Given the description of an element on the screen output the (x, y) to click on. 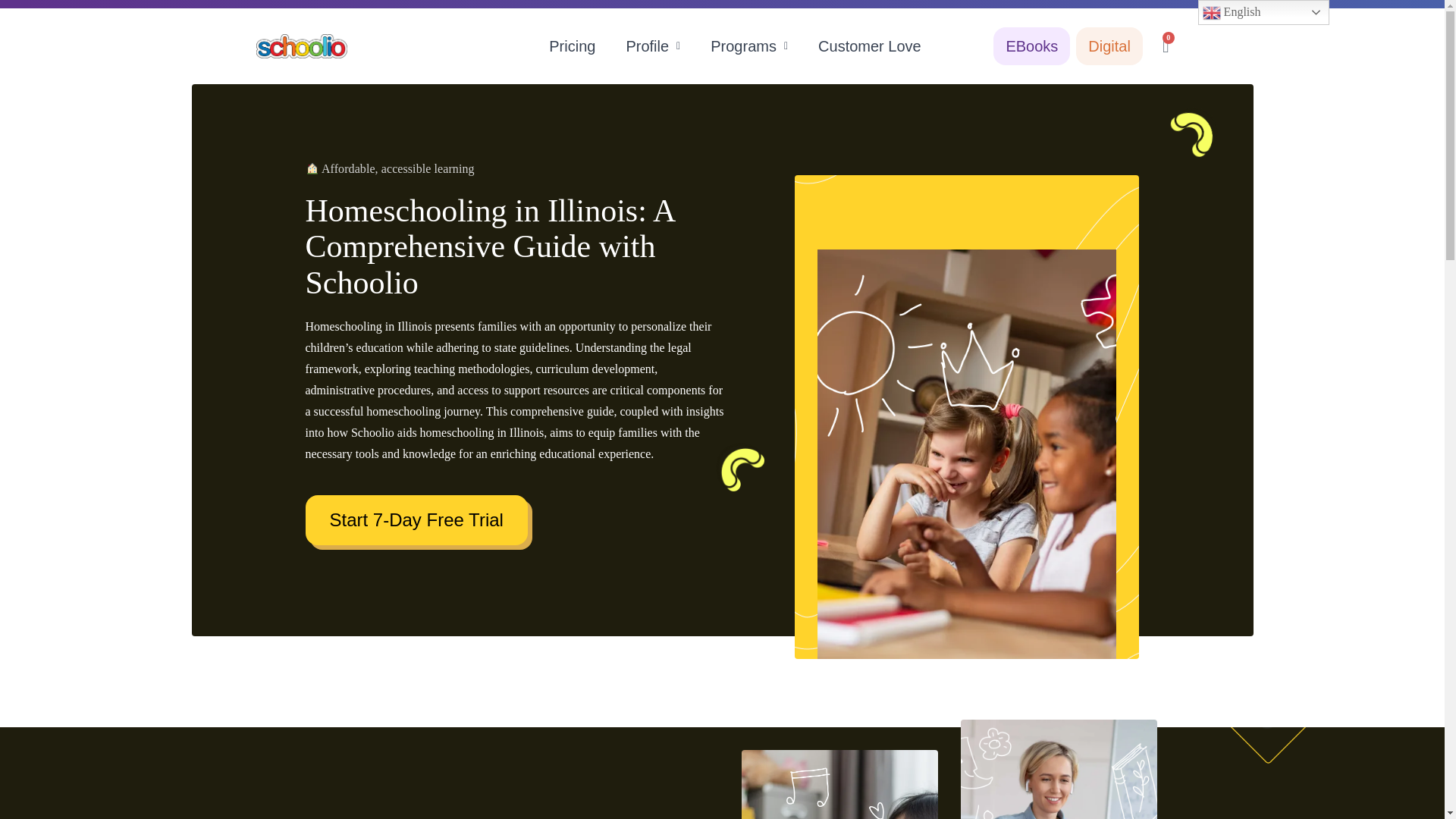
Customer Love (869, 45)
Start 7-Day Free Trial (415, 520)
Programs (748, 45)
Pricing (572, 45)
Digital (1108, 46)
Profile (652, 45)
EBooks (1031, 46)
